Given the description of an element on the screen output the (x, y) to click on. 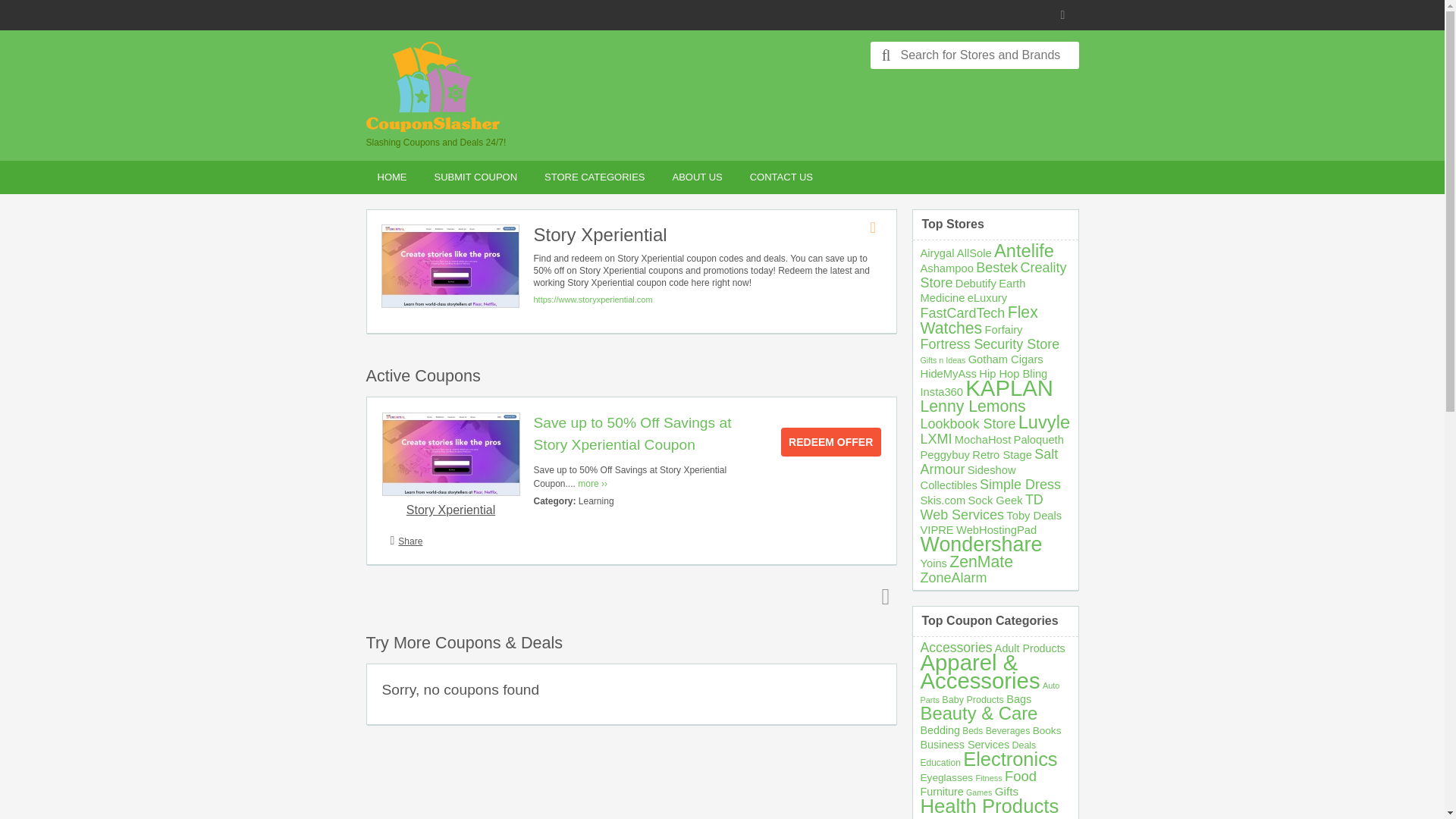
AllSole (973, 253)
STORE CATEGORIES (594, 177)
SUBMIT COUPON (476, 177)
CONTACT US (781, 177)
REDEEM OFFER (830, 441)
HOME (391, 177)
Learning (596, 501)
Airygal (937, 253)
ABOUT US (697, 177)
RSS (1064, 14)
Search (886, 54)
Click to open site (830, 441)
Share (409, 541)
Search (886, 54)
Story Xperiential (450, 509)
